Given the description of an element on the screen output the (x, y) to click on. 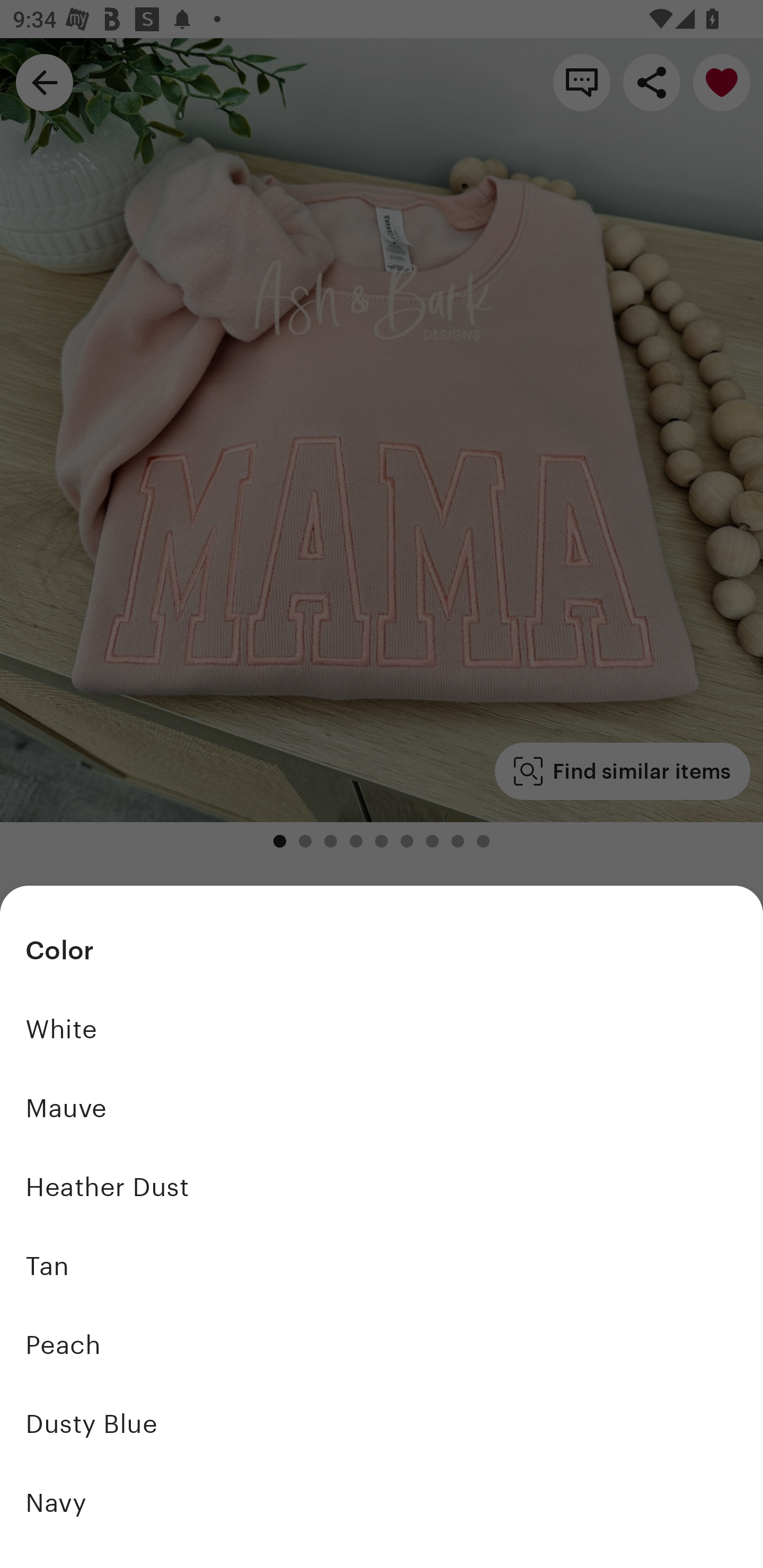
White (381, 1029)
Mauve (381, 1108)
Heather Dust (381, 1186)
Tan (381, 1266)
Peach (381, 1345)
Dusty Blue (381, 1423)
Navy (381, 1502)
